Given the description of an element on the screen output the (x, y) to click on. 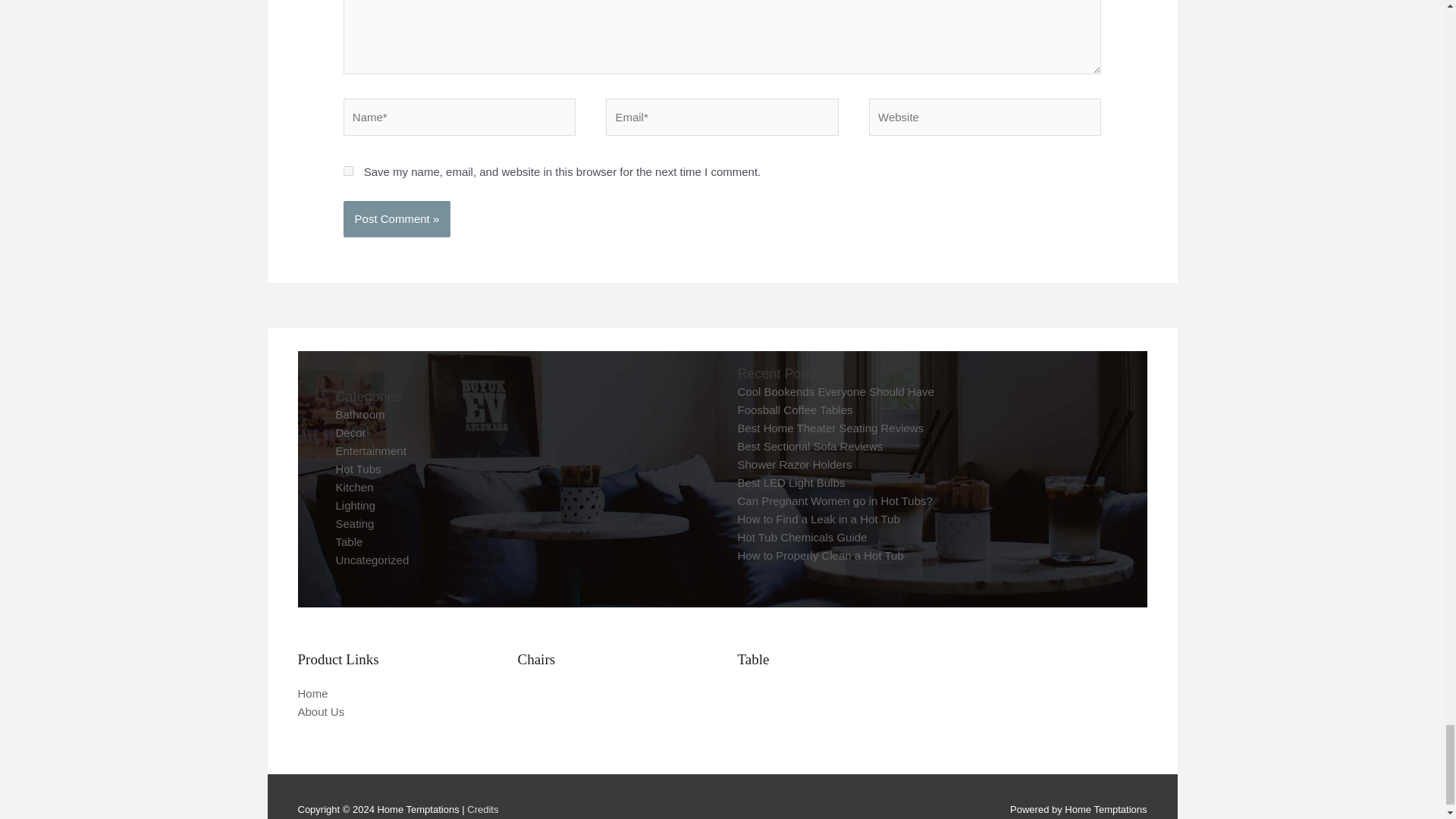
yes (348, 171)
